Given the description of an element on the screen output the (x, y) to click on. 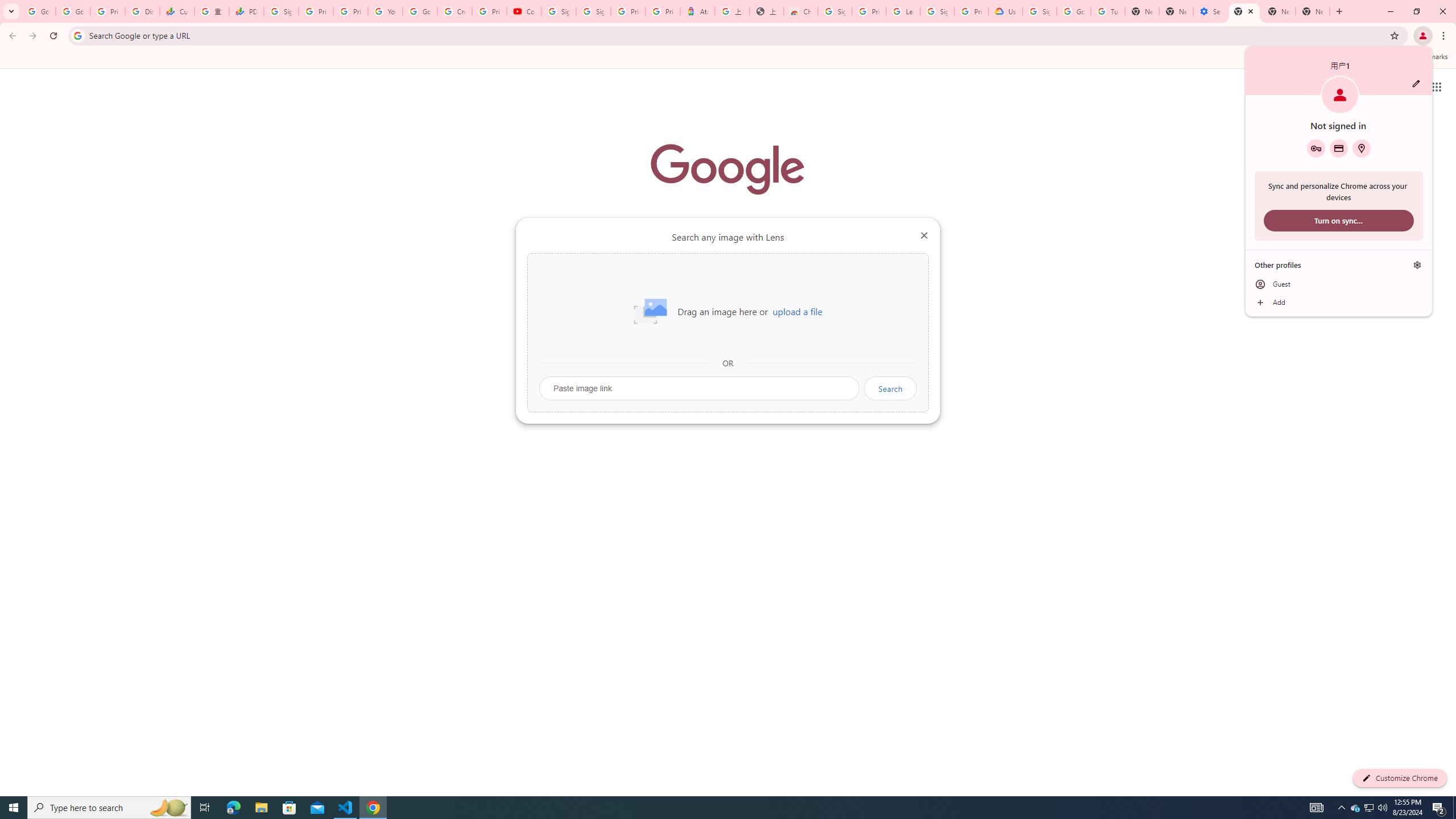
upload a file (796, 311)
Type here to search (108, 807)
Currencies - Google Finance (1355, 807)
Sign in - Google Accounts (176, 11)
Payment methods (281, 11)
